Given the description of an element on the screen output the (x, y) to click on. 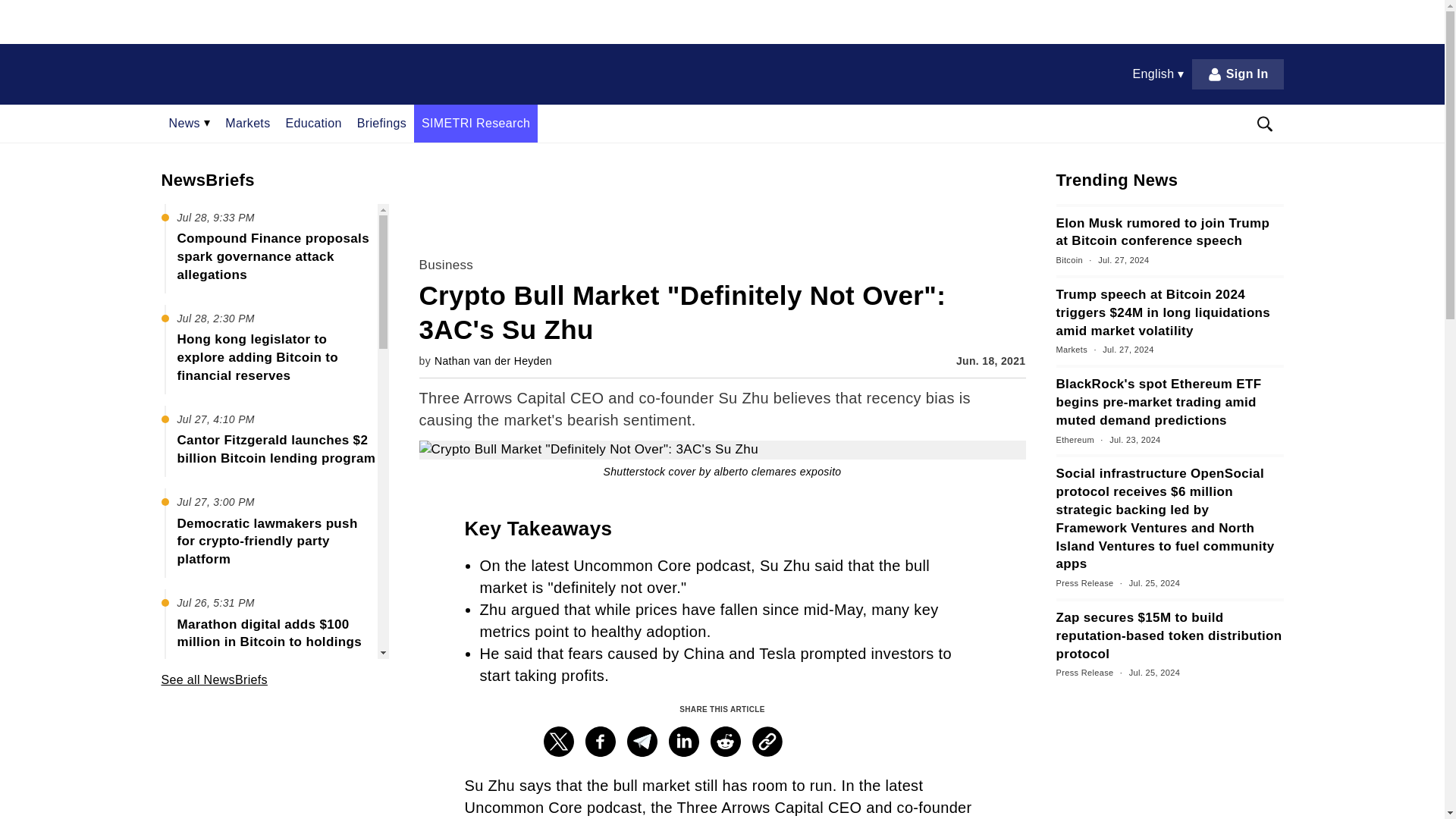
su zhu bull run not over-cover (722, 449)
News (188, 123)
Sign In (1238, 73)
Sign In (1238, 73)
